Given the description of an element on the screen output the (x, y) to click on. 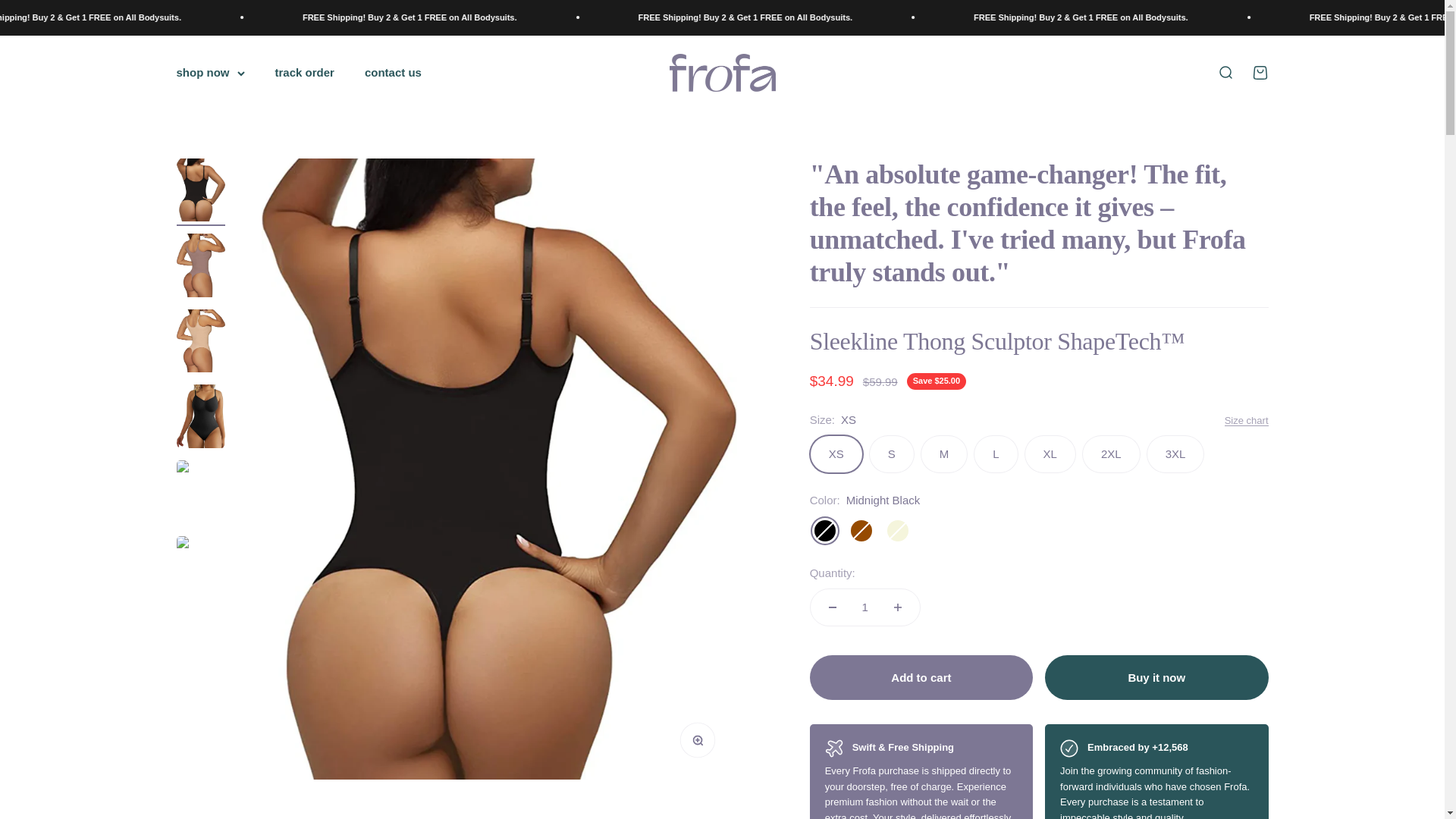
Zoom (700, 744)
Frofa (721, 72)
track order (304, 72)
contact us (393, 72)
Add to cart (920, 677)
Open search (1224, 72)
Buy it now (1259, 72)
